Given the description of an element on the screen output the (x, y) to click on. 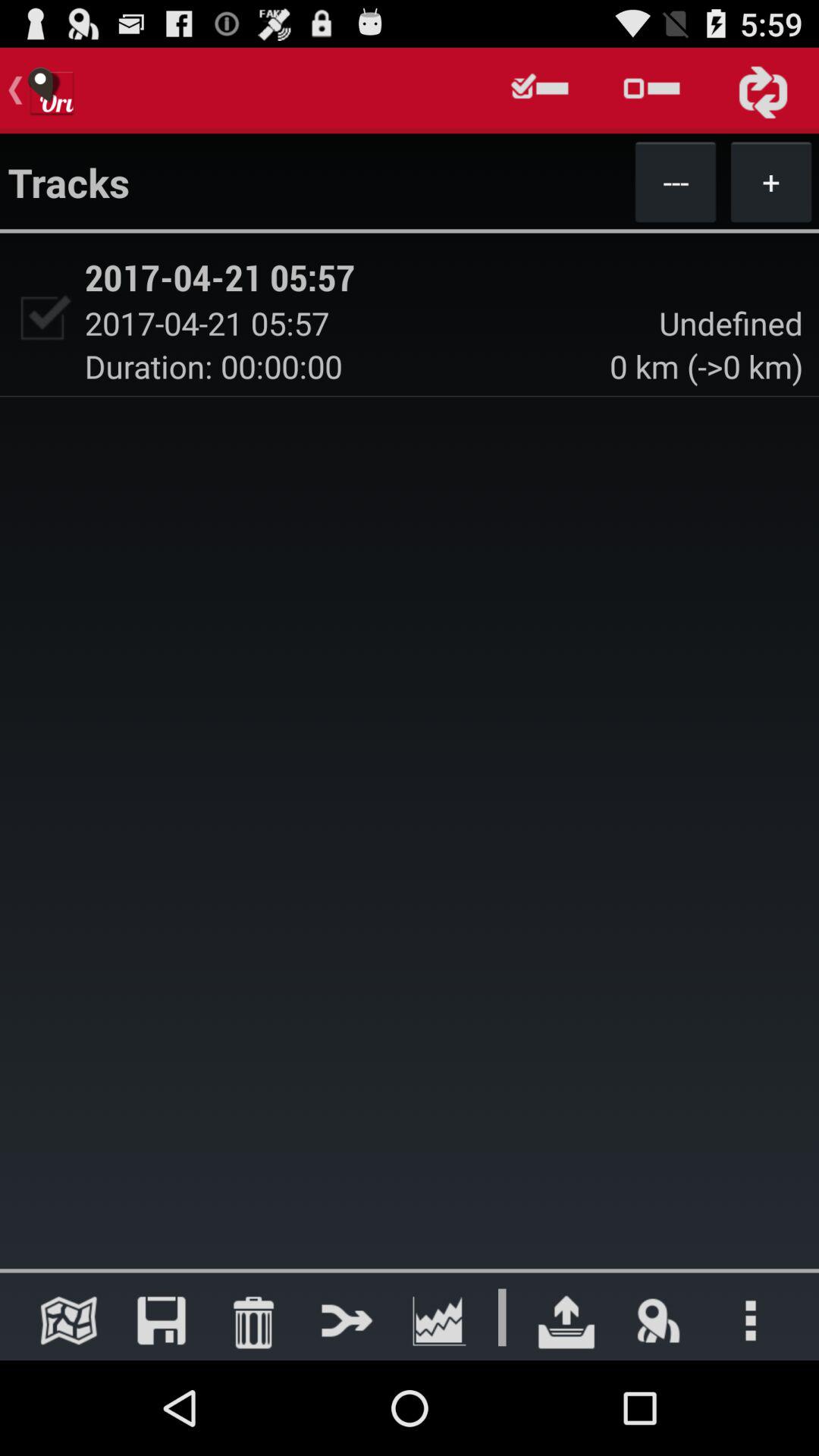
press item above the --- (651, 90)
